Given the description of an element on the screen output the (x, y) to click on. 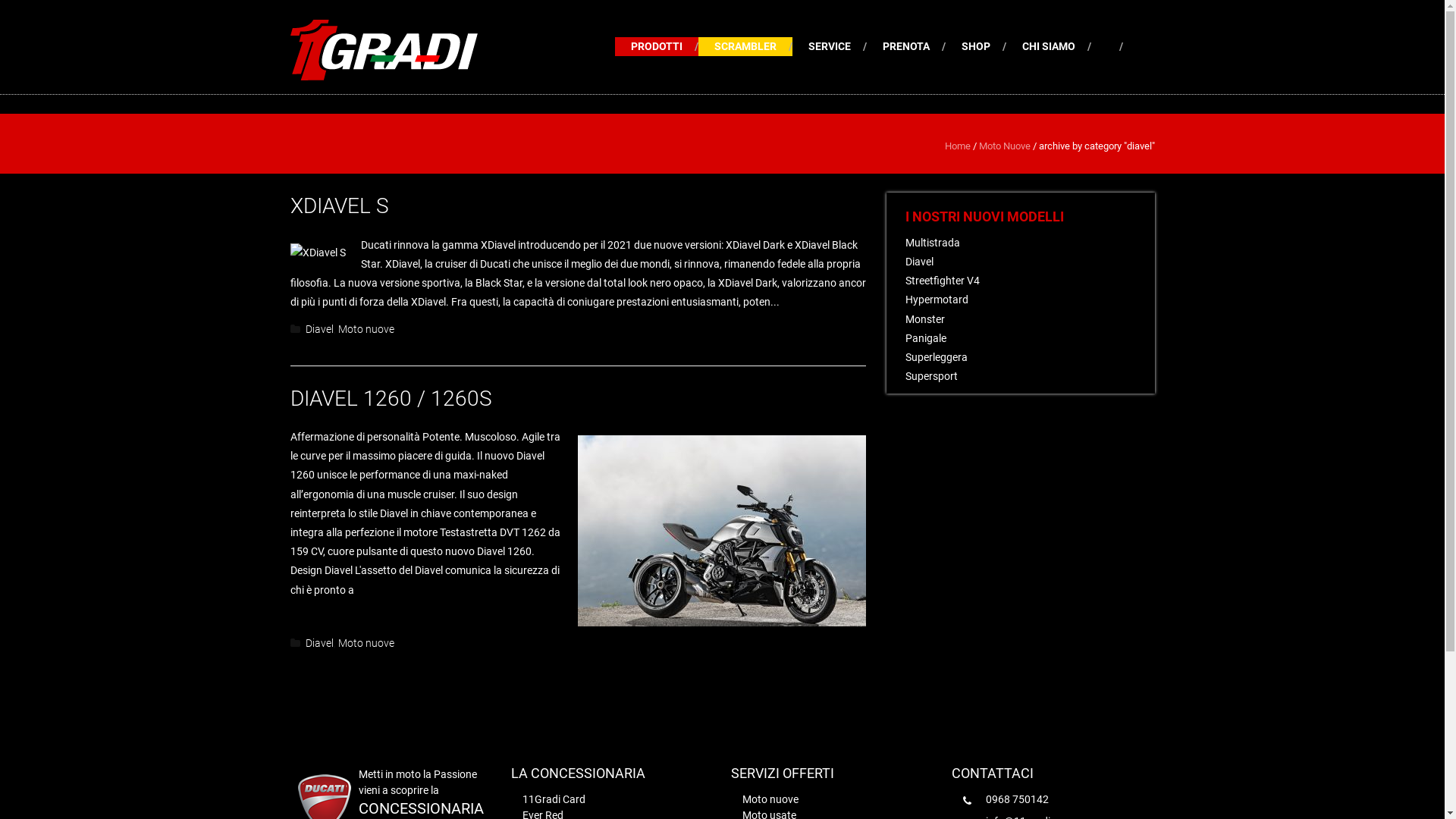
Moto Nuove Element type: text (1003, 145)
Home Element type: text (957, 145)
XDIAVEL S Element type: text (338, 205)
Moto nuove Element type: text (366, 329)
Monster Element type: text (924, 319)
Panigale Element type: text (925, 338)
Streetfighter V4 Element type: text (942, 280)
DIAVEL 1260 / 1260S Element type: text (390, 398)
SCRAMBLER Element type: text (753, 46)
PRODOTTI Element type: text (664, 46)
SHOP Element type: text (983, 46)
Superleggera Element type: text (936, 357)
Moto nuove Element type: text (770, 799)
Supersport Element type: text (931, 376)
CHI SIAMO Element type: text (1056, 46)
11Gradi Card Element type: text (553, 799)
Hypermotard Element type: text (936, 299)
Diavel Element type: text (919, 261)
SERVICE Element type: text (837, 46)
PRENOTA Element type: text (913, 46)
Diavel Element type: text (318, 643)
Moto nuove Element type: text (366, 643)
Diavel Element type: text (318, 329)
Multistrada Element type: text (932, 242)
